Given the description of an element on the screen output the (x, y) to click on. 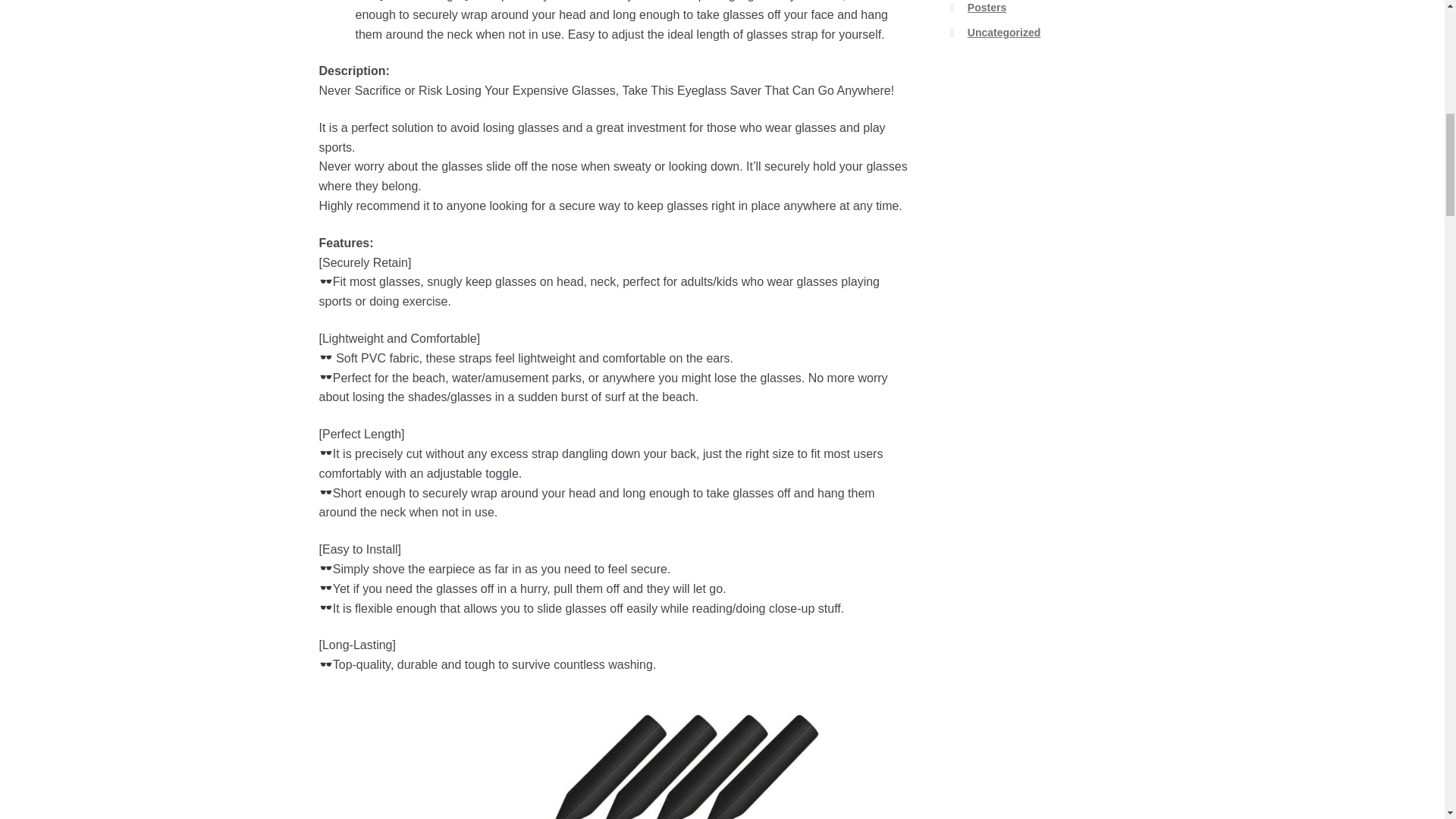
Uncategorized (1004, 32)
Posters (987, 7)
